Given the description of an element on the screen output the (x, y) to click on. 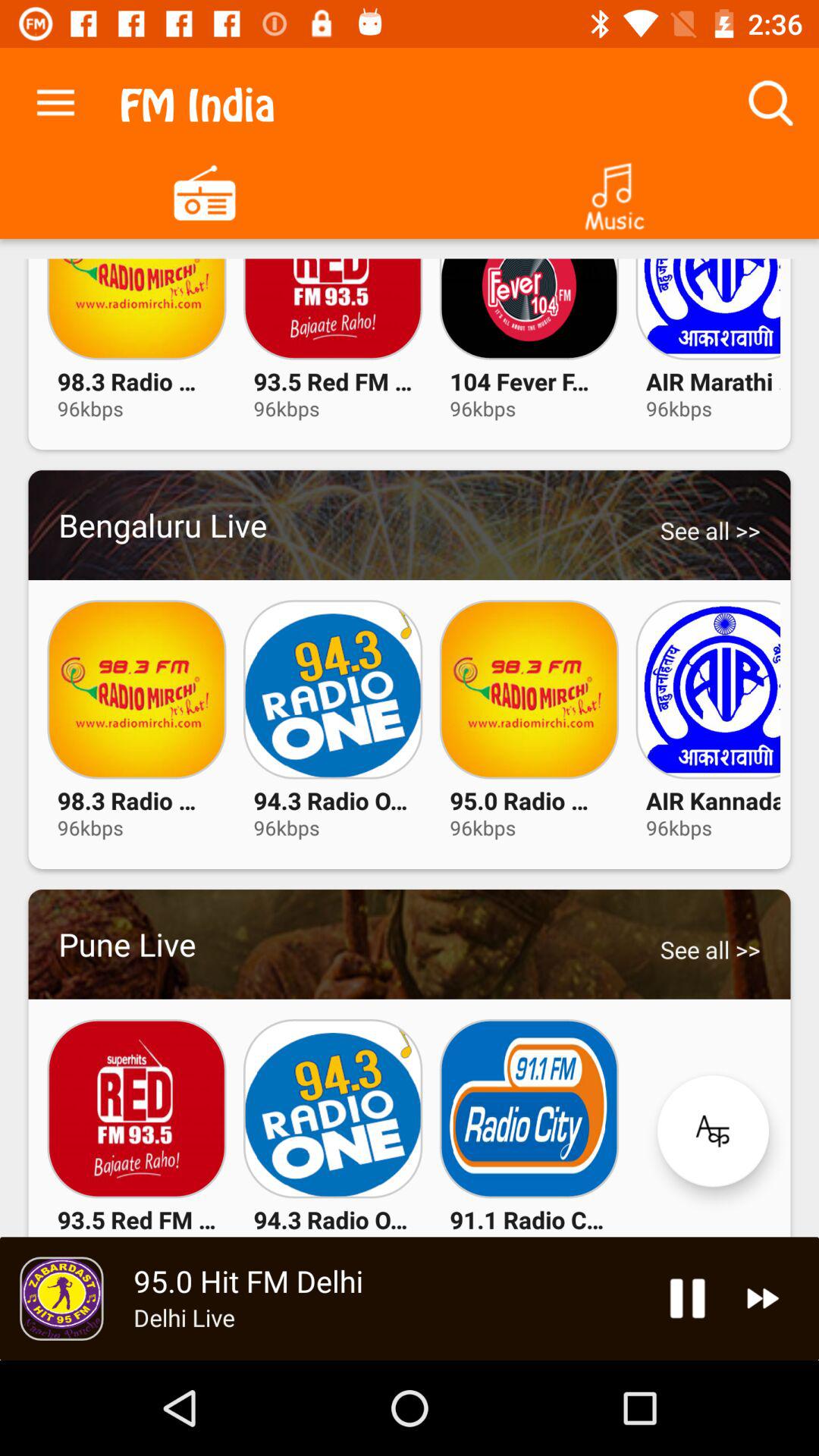
pause (687, 1298)
